Given the description of an element on the screen output the (x, y) to click on. 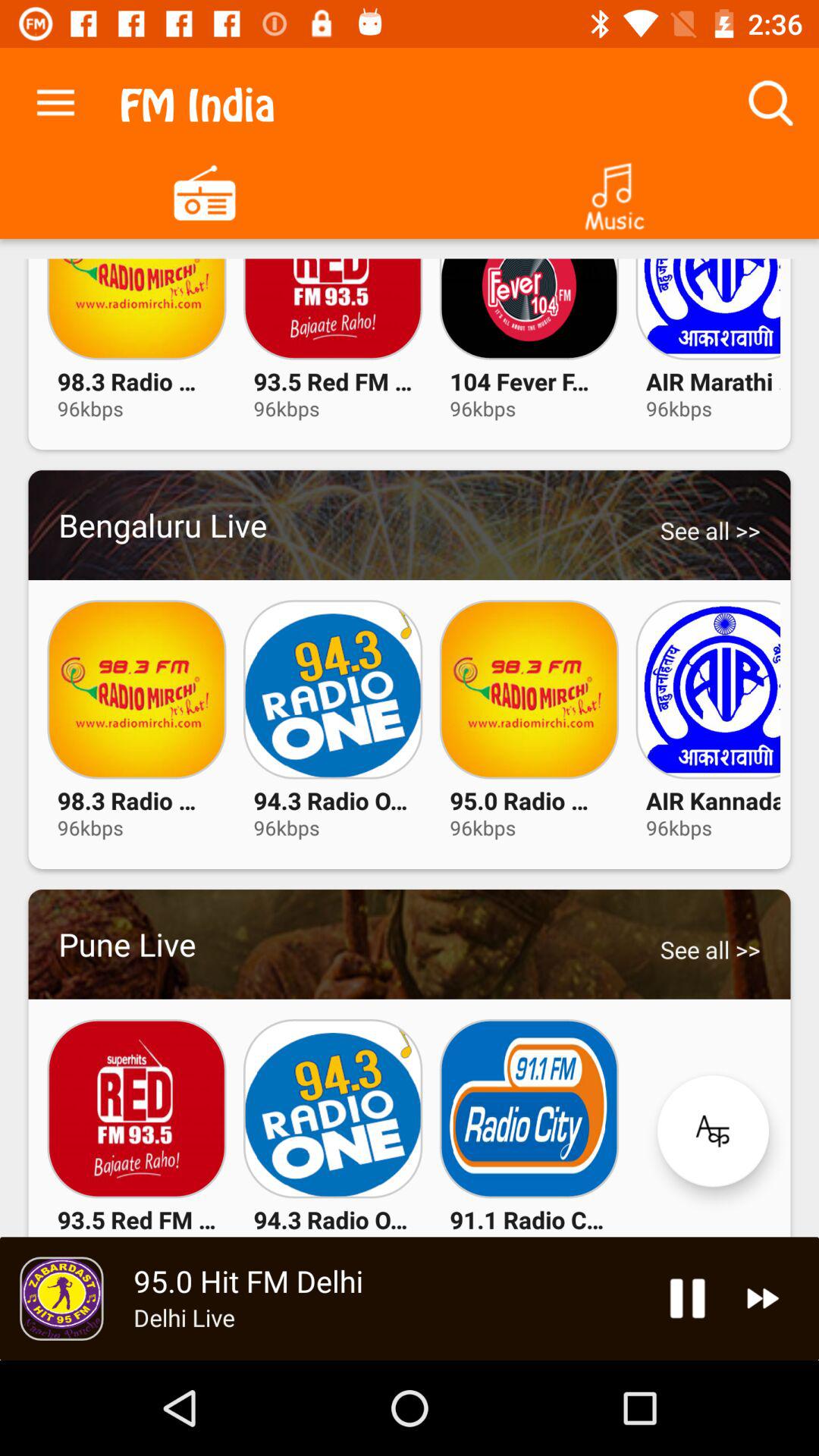
pause (687, 1298)
